Given the description of an element on the screen output the (x, y) to click on. 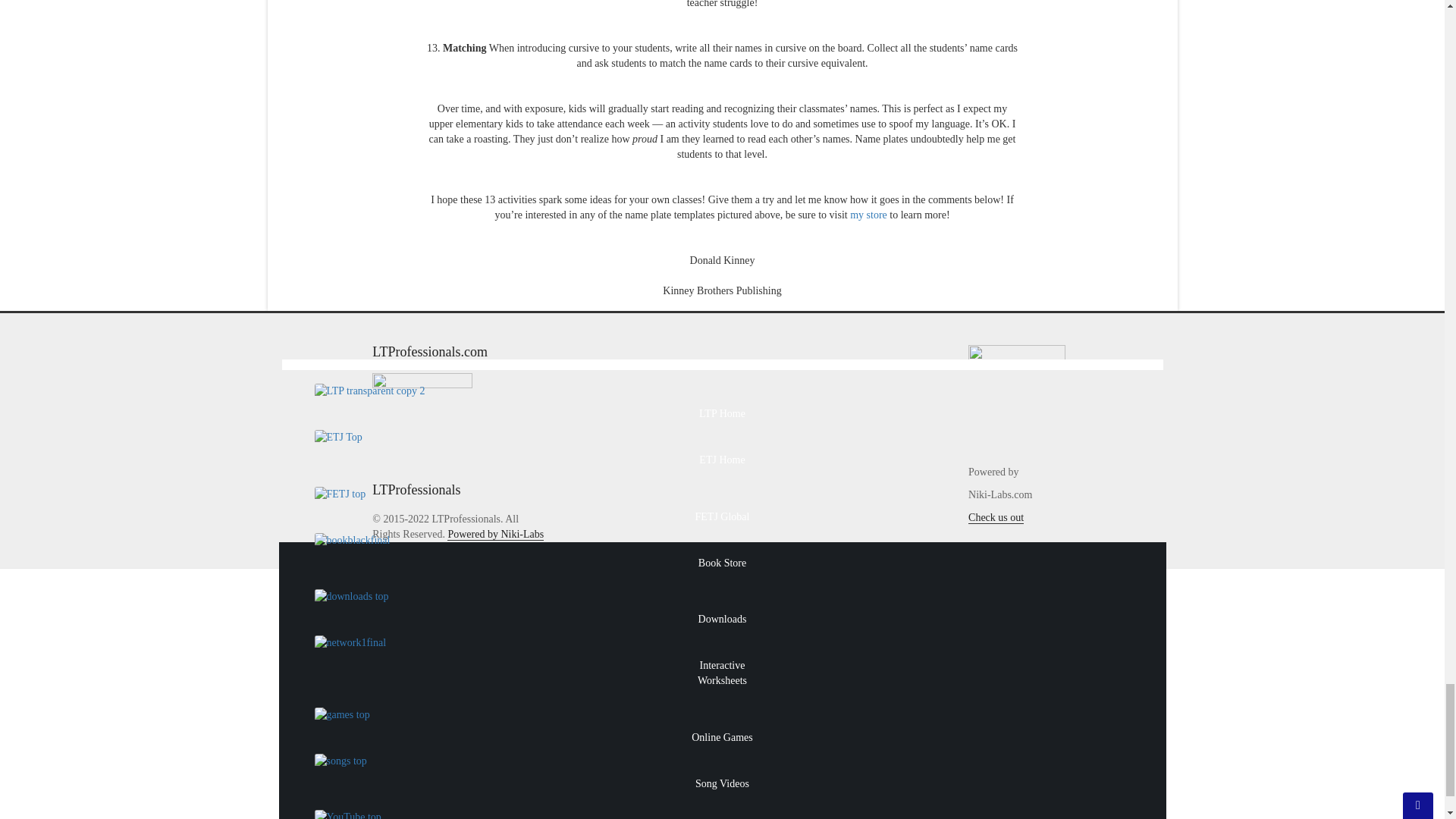
my store (868, 214)
